Given the description of an element on the screen output the (x, y) to click on. 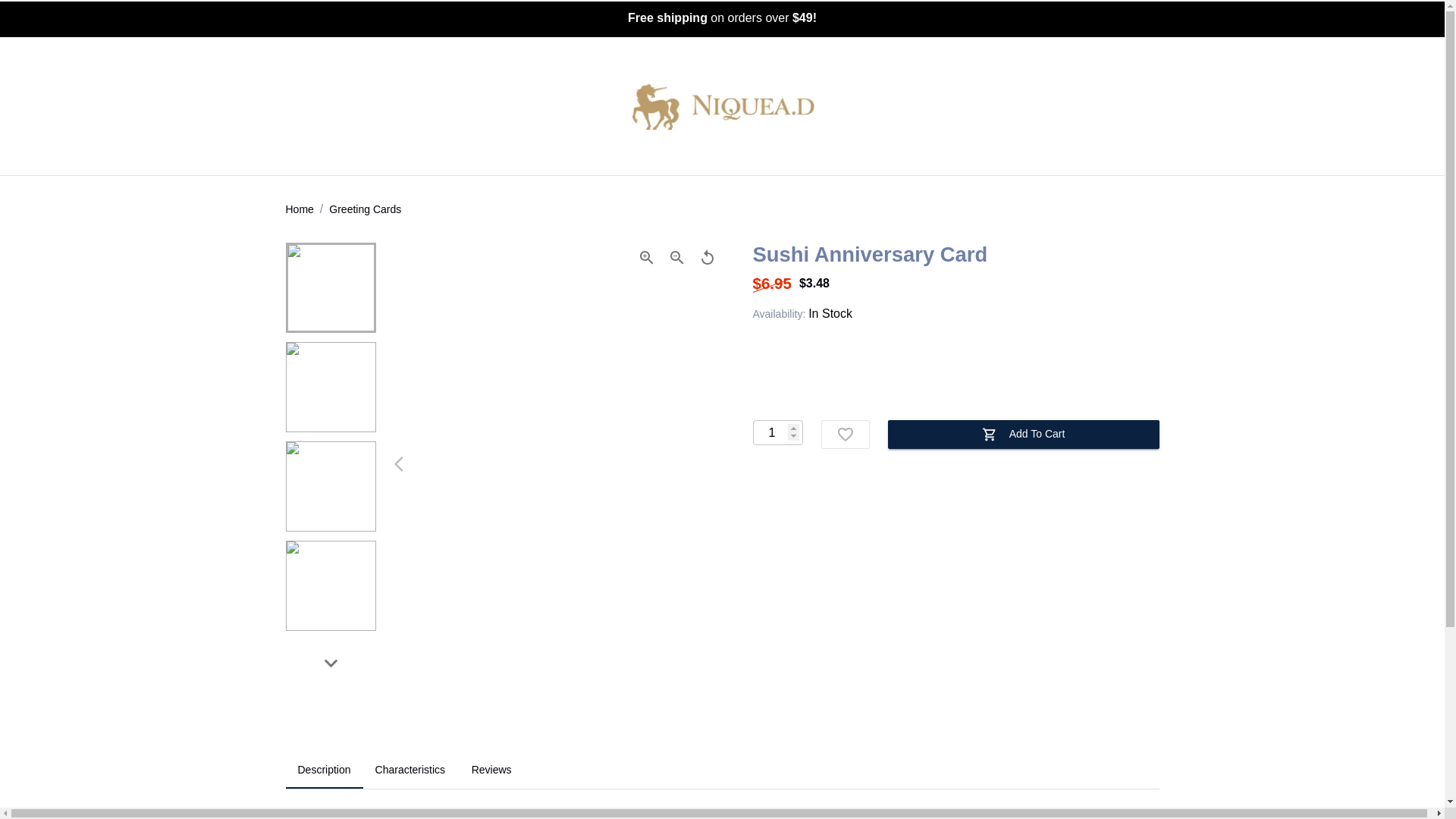
Reviews (491, 770)
Greeting Cards (721, 770)
Home (365, 209)
Description (299, 209)
1 (323, 770)
Characteristics (777, 432)
Add To Cart (410, 770)
